Given the description of an element on the screen output the (x, y) to click on. 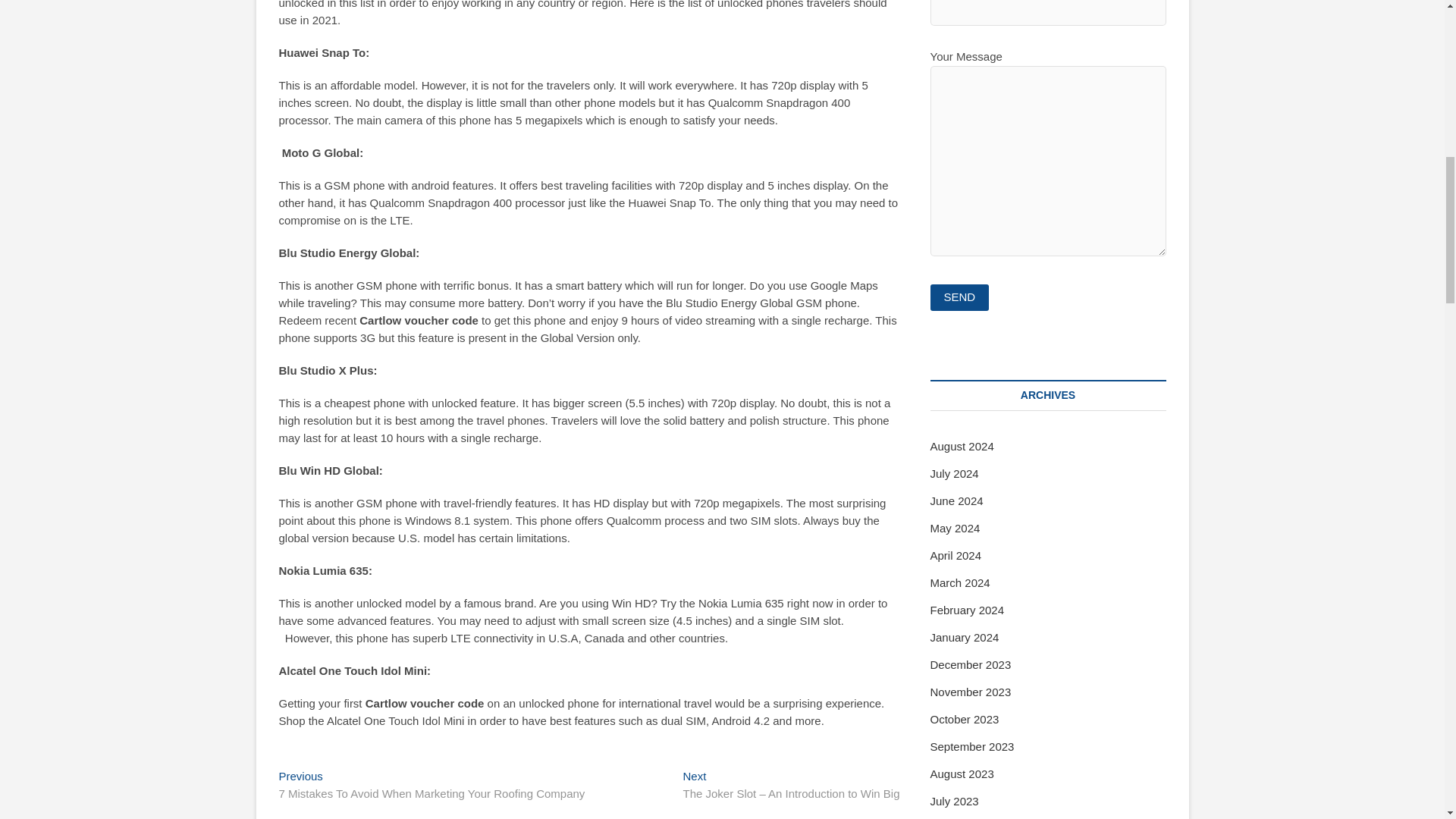
September 2023 (971, 746)
April 2024 (955, 554)
February 2024 (967, 609)
October 2023 (964, 718)
November 2023 (970, 691)
July 2024 (954, 472)
January 2024 (964, 636)
December 2023 (970, 664)
August 2024 (961, 445)
